Given the description of an element on the screen output the (x, y) to click on. 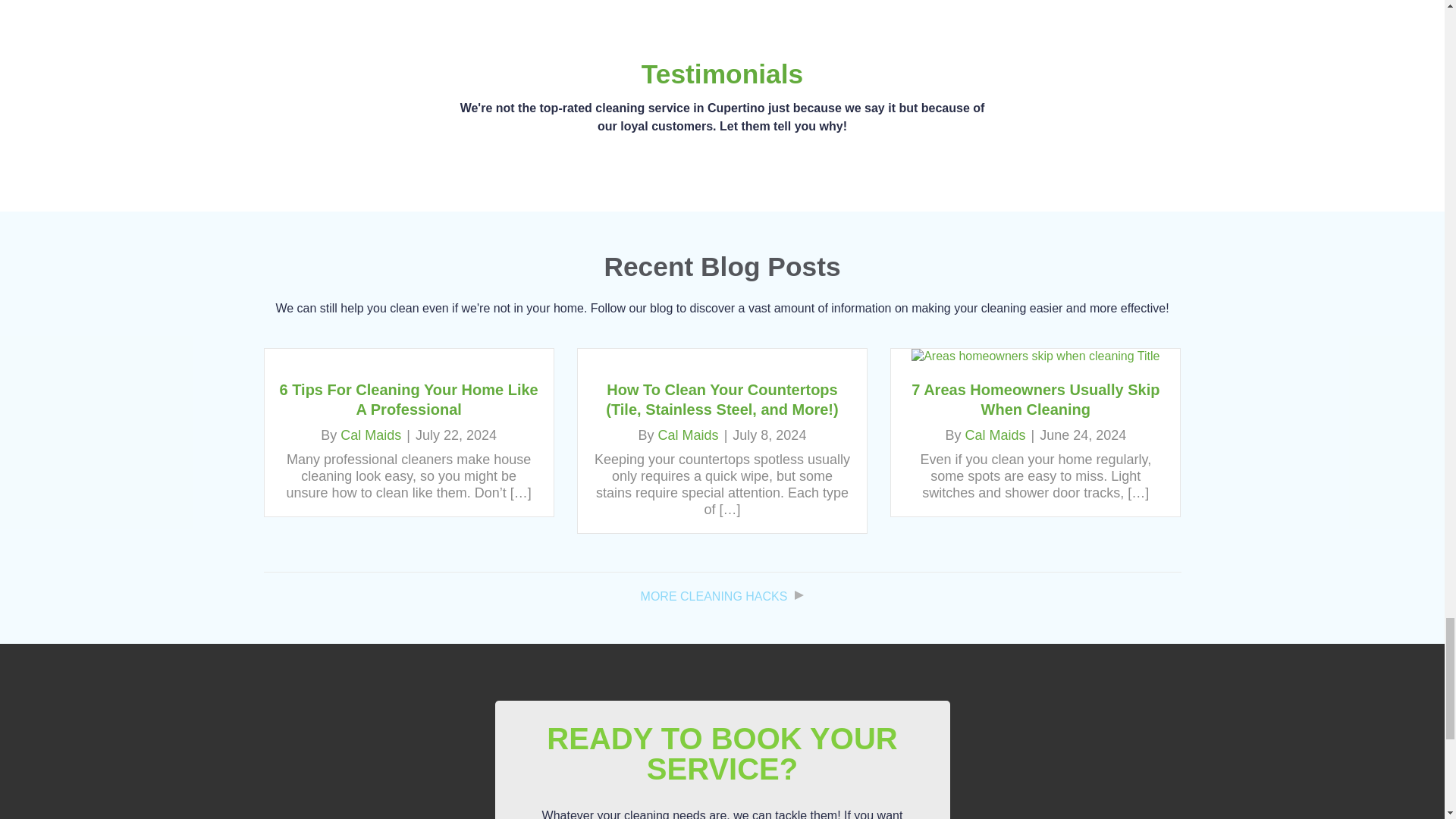
6 Tips For Cleaning Your Home Like A Professional (408, 399)
7 Areas Homeowners Usually Skip When Cleaning (1034, 355)
7 Areas Homeowners Usually Skip When Cleaning (1034, 399)
